Given the description of an element on the screen output the (x, y) to click on. 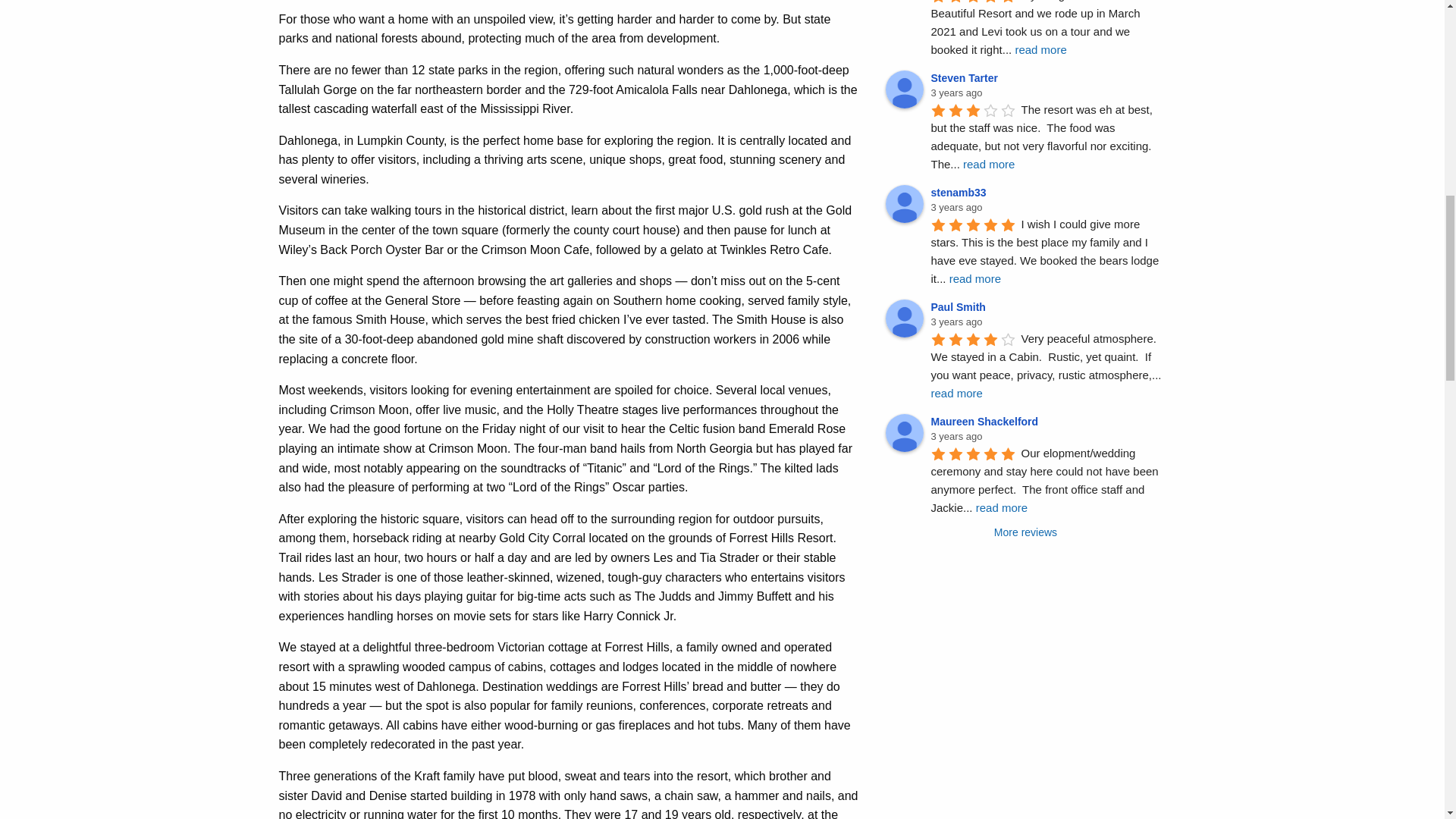
Paul Smith (904, 318)
stenamb33 (904, 203)
Steven Tarter (904, 89)
Maureen Shackelford (904, 433)
